Given the description of an element on the screen output the (x, y) to click on. 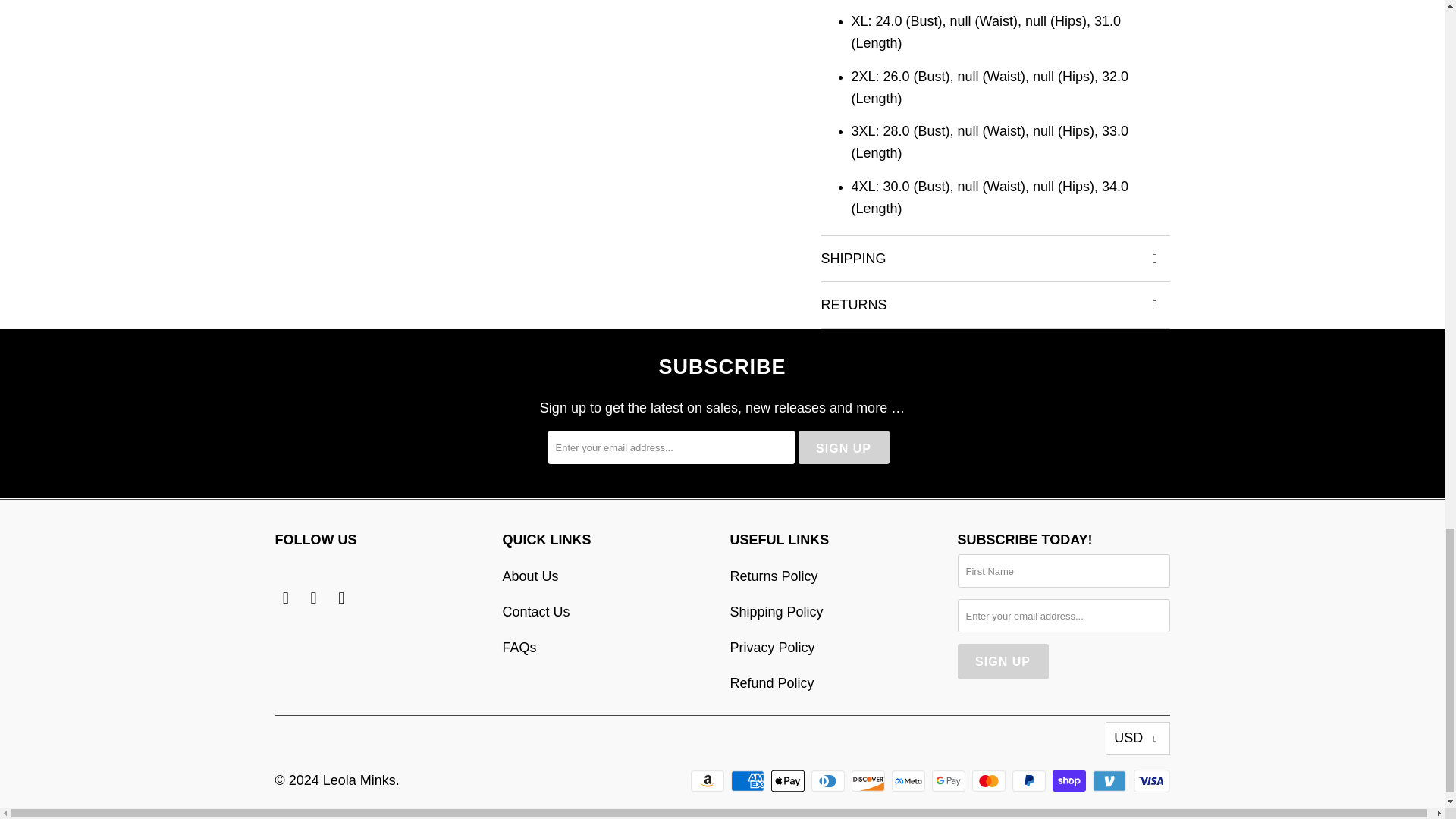
Leola Minks on YouTube (313, 597)
Sign Up (1002, 661)
American Express (748, 780)
Amazon (708, 780)
Mastercard (990, 780)
Sign Up (842, 448)
Leola Minks on Facebook (286, 597)
PayPal (1029, 780)
Discover (869, 780)
Meta Pay (909, 780)
